Given the description of an element on the screen output the (x, y) to click on. 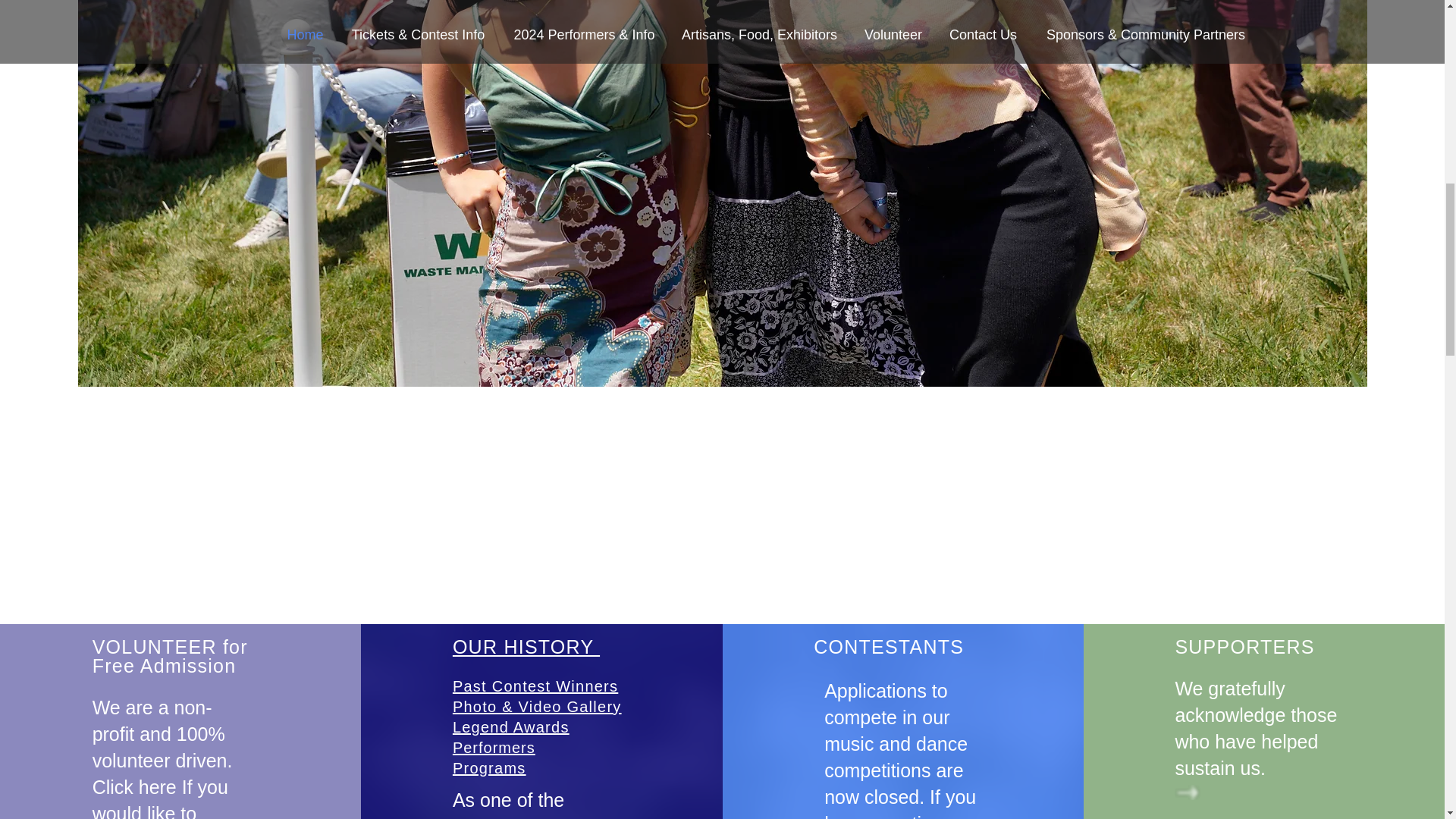
Legend Awards (173, 656)
OUR HISTORY  (510, 727)
Performers (525, 646)
Past Contest Winners (493, 747)
Programs (534, 686)
CONTESTANTS (488, 768)
